Given the description of an element on the screen output the (x, y) to click on. 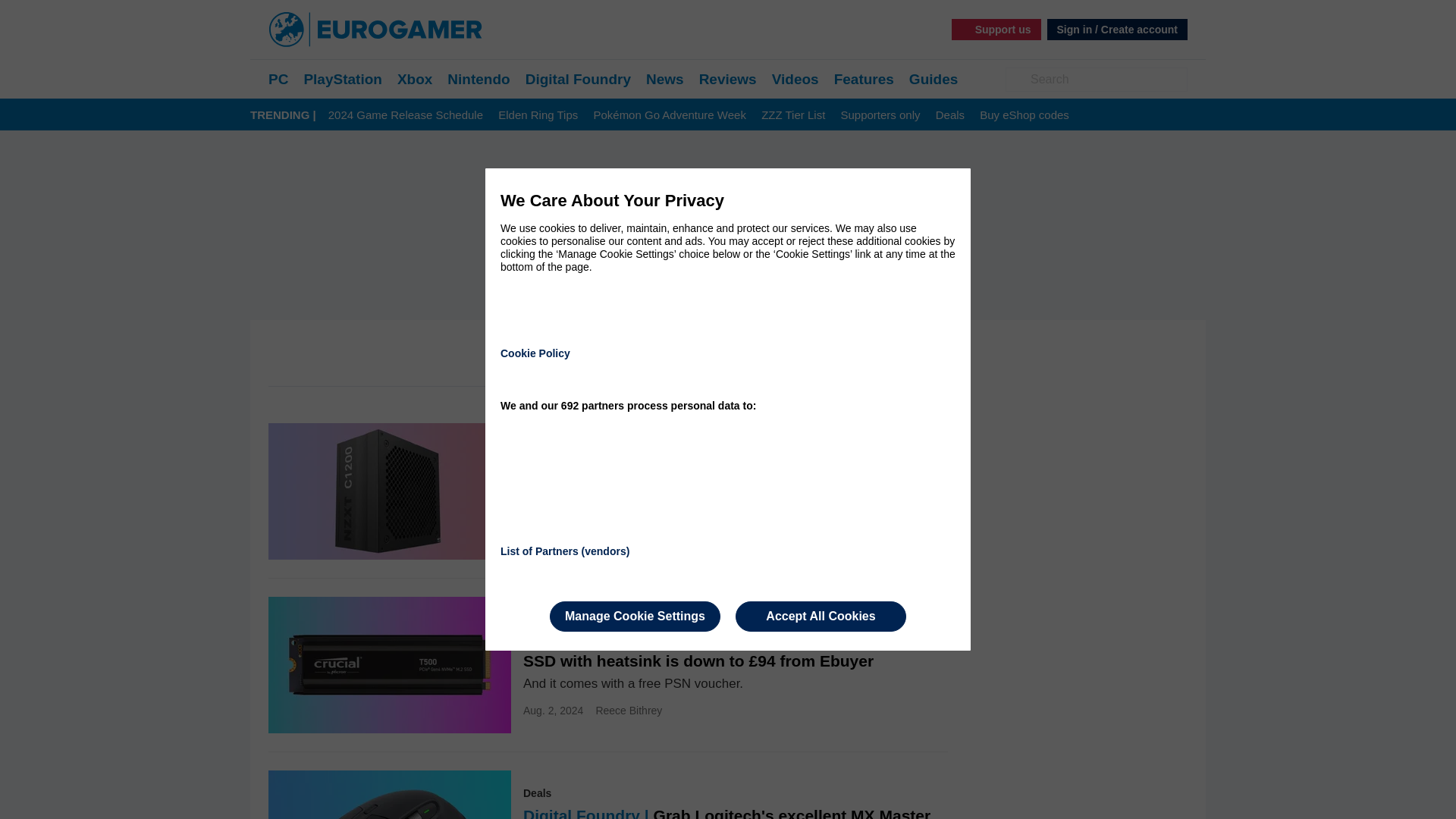
Xbox (414, 78)
Videos (794, 78)
Digital Foundry (577, 78)
Buy eShop codes (1023, 114)
Nintendo (477, 78)
Elden Ring Tips (537, 114)
Reviews (727, 78)
2024 Game Release Schedule (406, 114)
Supporters only (880, 114)
Deals (949, 114)
Reviews (727, 78)
ZZZ Tier List (793, 114)
ZZZ Tier List (793, 114)
Digital Foundry (577, 78)
Deals (949, 114)
